Given the description of an element on the screen output the (x, y) to click on. 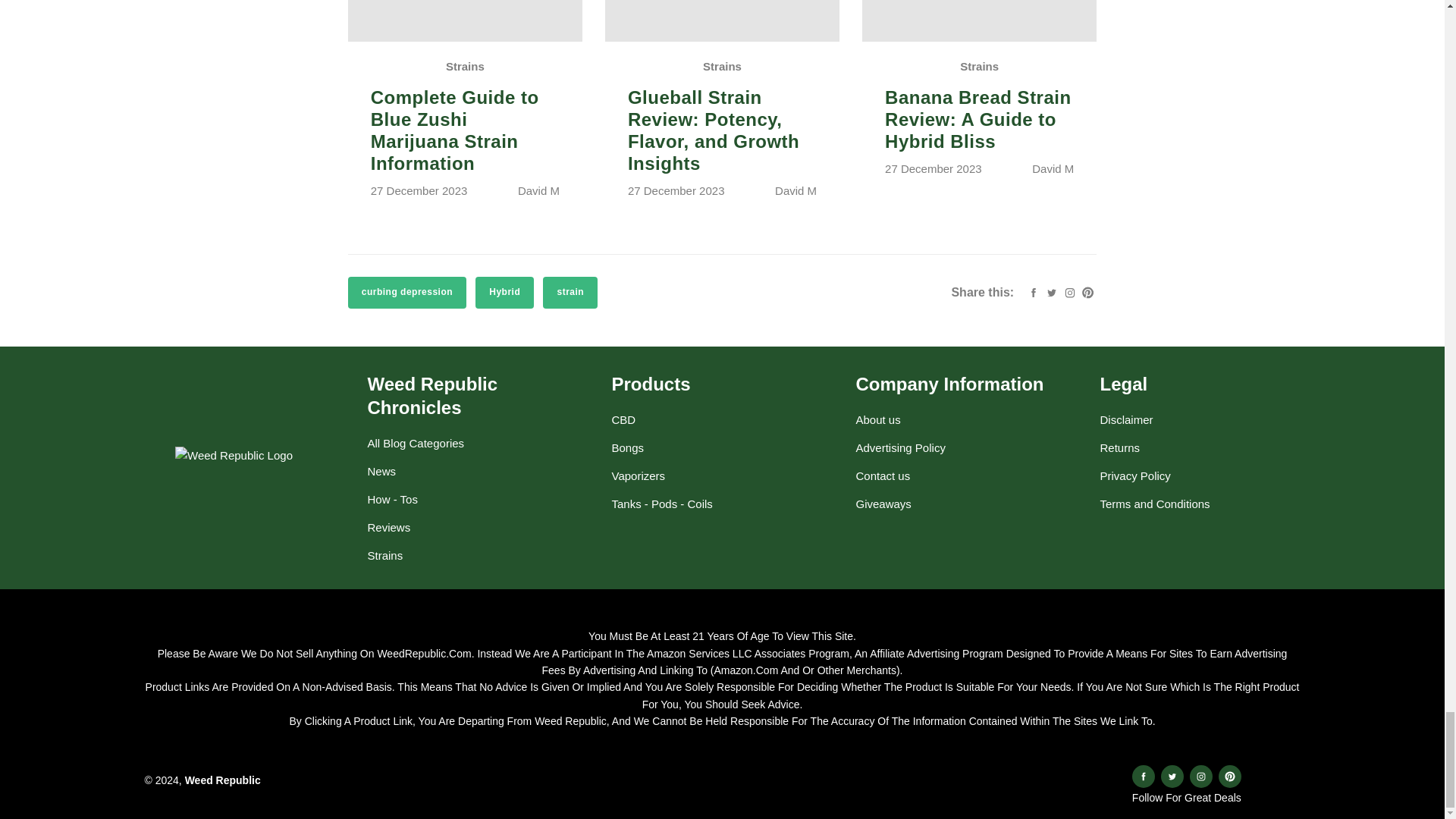
Narrow search to articles also having tag strain (569, 292)
Narrow search to articles also having tag curbing depression (406, 292)
Home page (222, 779)
Narrow search to articles also having tag Hybrid (505, 292)
